Given the description of an element on the screen output the (x, y) to click on. 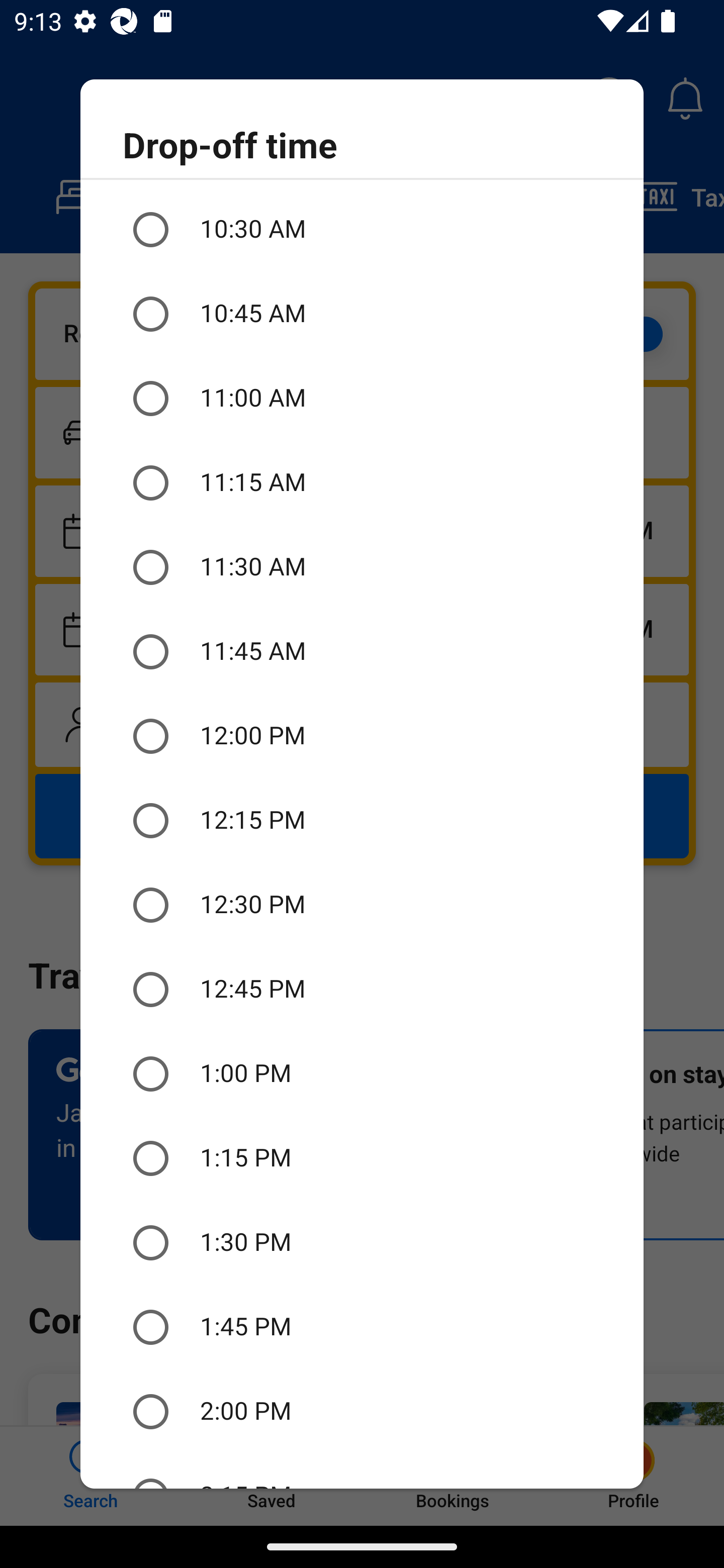
10:30 AM (361, 229)
10:45 AM (361, 313)
11:00 AM (361, 397)
11:15 AM (361, 482)
11:30 AM (361, 567)
11:45 AM (361, 651)
12:00 PM (361, 735)
12:15 PM (361, 819)
12:30 PM (361, 904)
12:45 PM (361, 989)
1:00 PM (361, 1073)
1:15 PM (361, 1158)
1:30 PM (361, 1243)
1:45 PM (361, 1326)
2:00 PM (361, 1410)
